Given the description of an element on the screen output the (x, y) to click on. 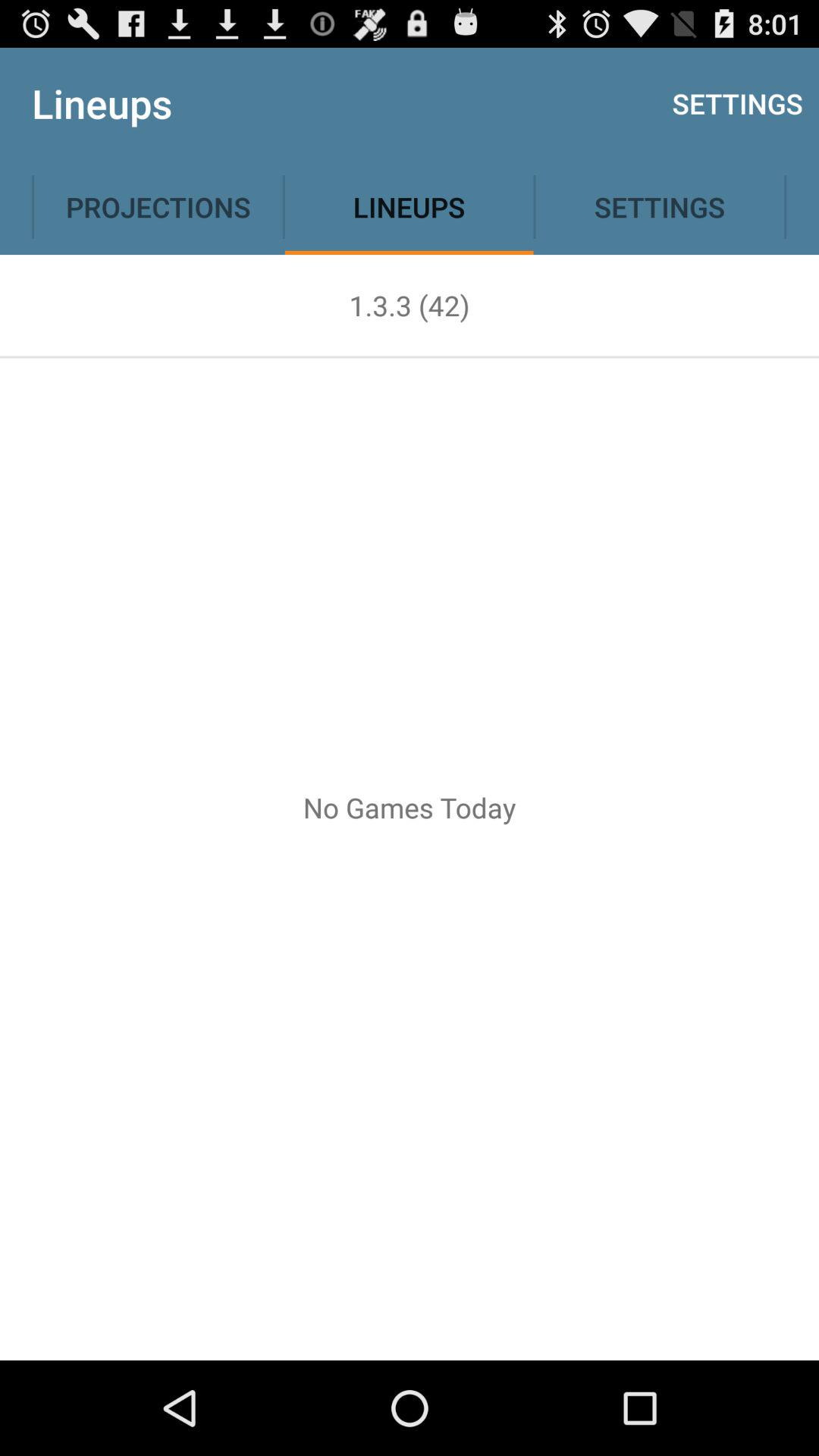
select the first settings button (737, 103)
click on the button which is next to the lineups (659, 206)
select lineups (409, 206)
click on settings option (659, 206)
